Given the description of an element on the screen output the (x, y) to click on. 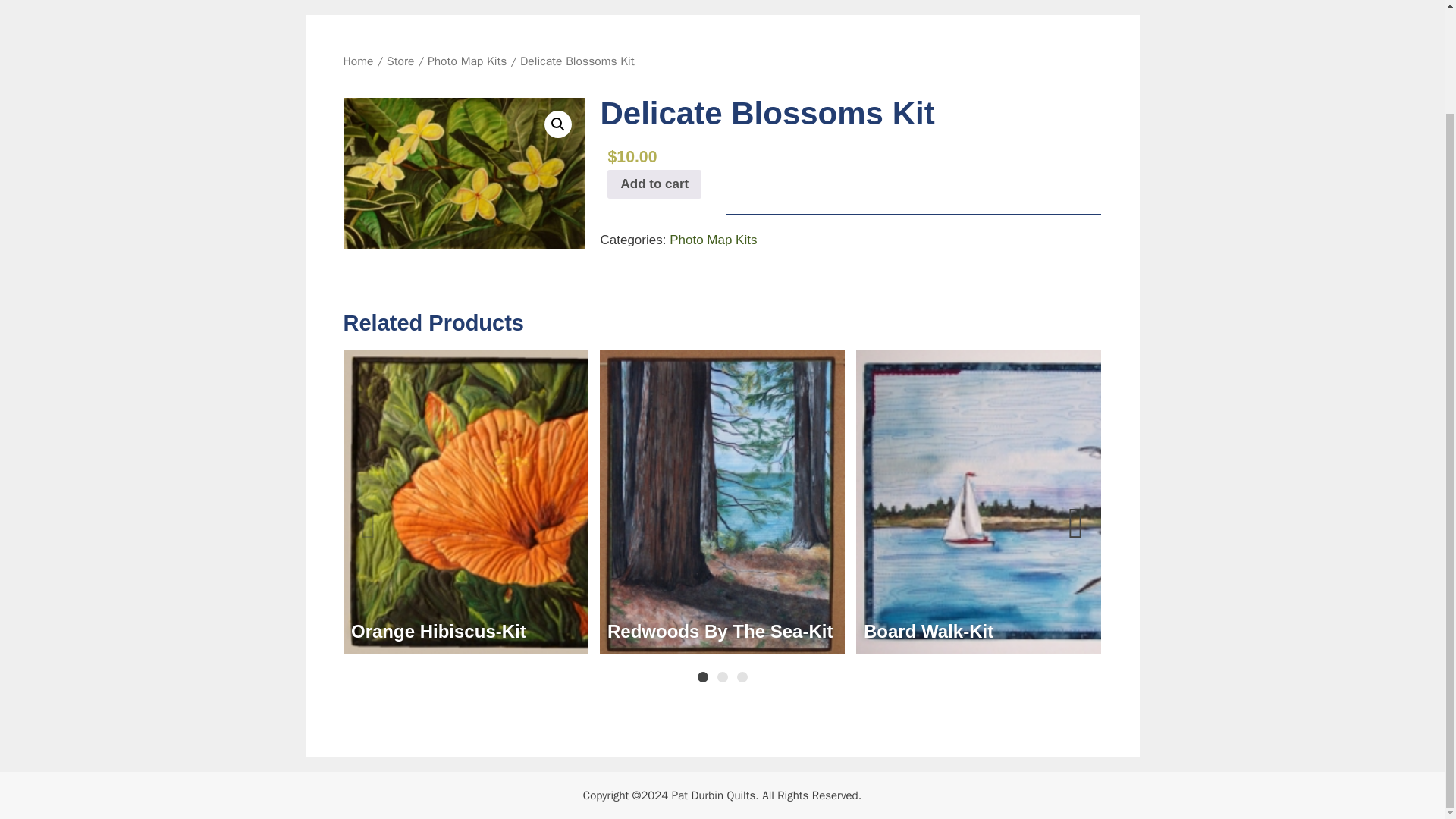
Photo Map Kits (713, 240)
Photo Map Kits (467, 61)
Home (357, 61)
Add to cart (654, 184)
Orange Hibiscus-Kit (464, 631)
Store (400, 61)
